Given the description of an element on the screen output the (x, y) to click on. 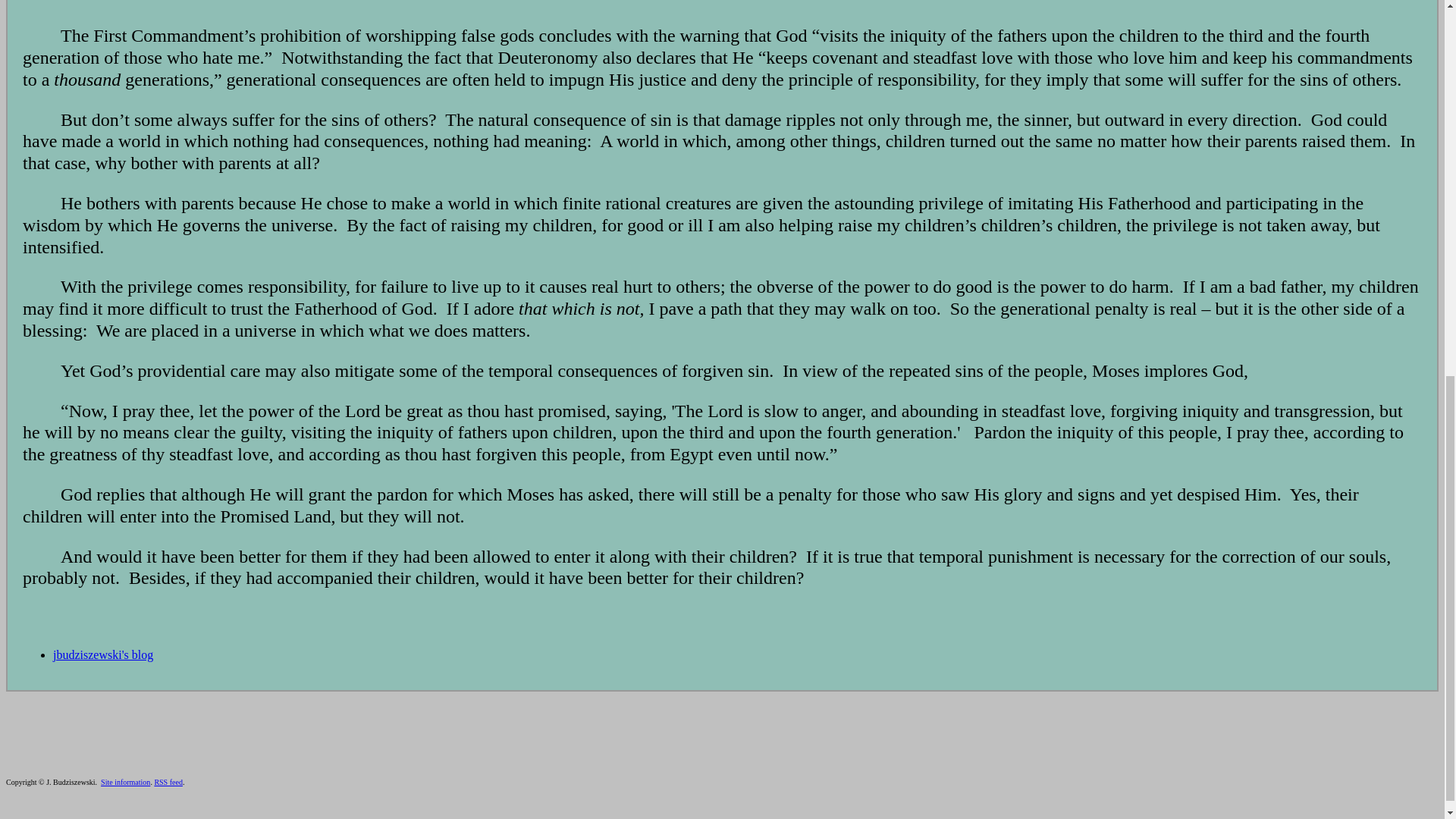
jbudziszewski's blog (102, 654)
RSS feed (168, 782)
Read jbudziszewski's latest blog entries. (102, 654)
Site information (124, 782)
